Given the description of an element on the screen output the (x, y) to click on. 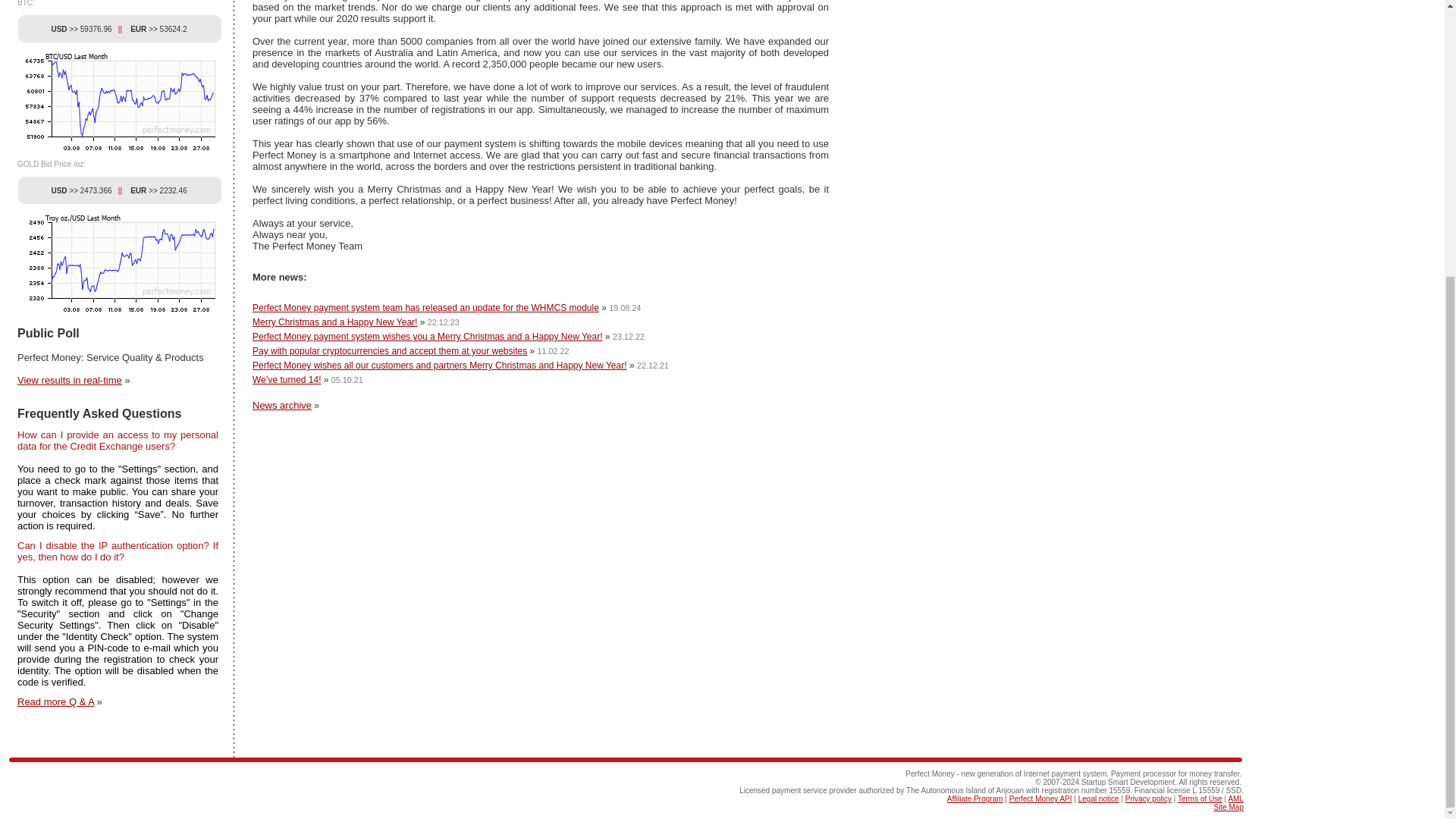
Site Map (1228, 807)
Merry Christmas and a Happy New Year! (333, 321)
Legal notice (1098, 798)
News archive (281, 405)
Privacy policy (1148, 798)
AML (1235, 798)
View results in real-time (69, 379)
